Given the description of an element on the screen output the (x, y) to click on. 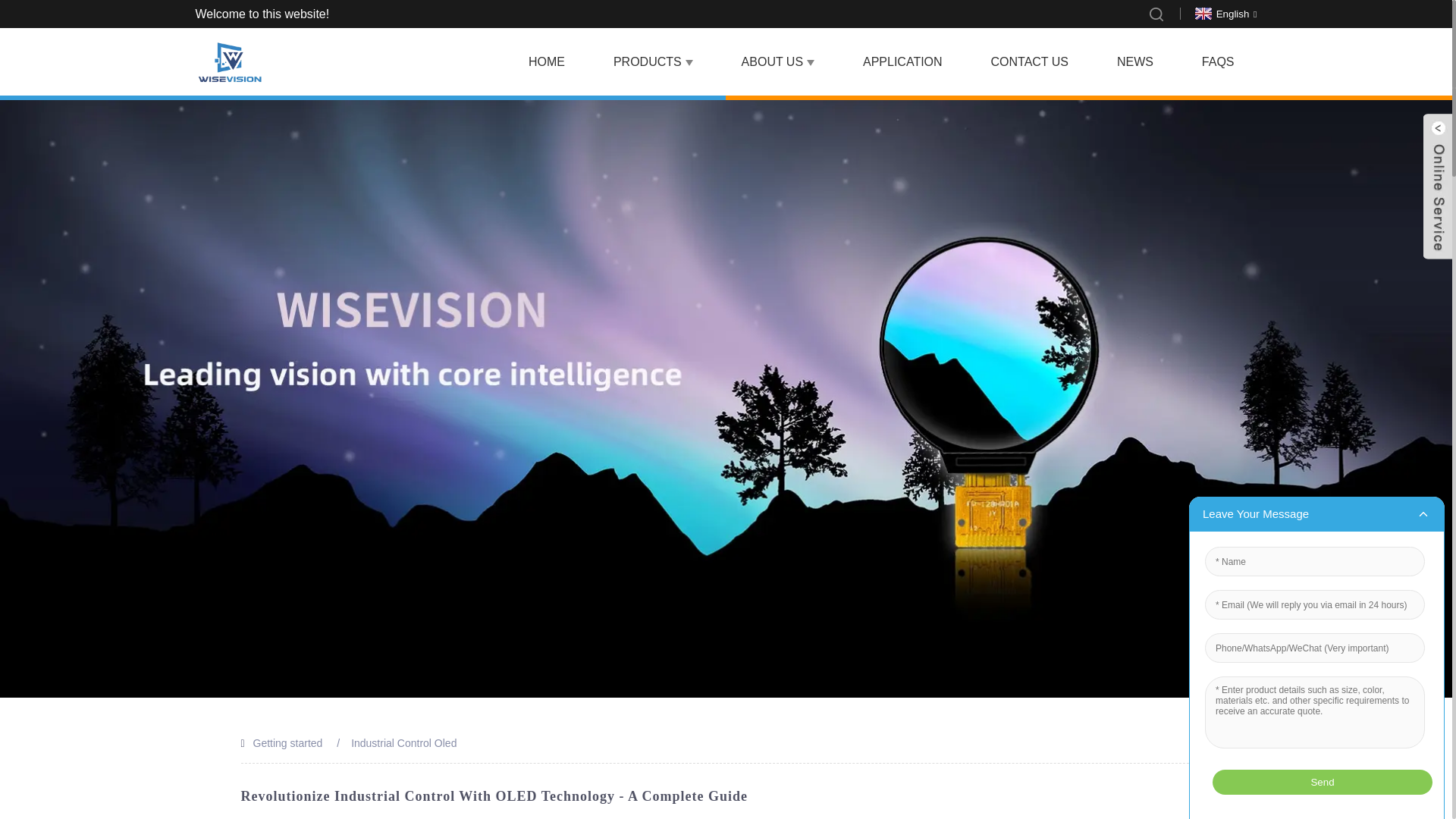
PRODUCTS (652, 61)
Getting started (288, 743)
ABOUT US (777, 61)
NEWS (1135, 61)
HOME (546, 61)
CONTACT US (1029, 61)
APPLICATION (902, 61)
English (1224, 12)
Industrial Control Oled (403, 743)
FAQS (1217, 61)
